Given the description of an element on the screen output the (x, y) to click on. 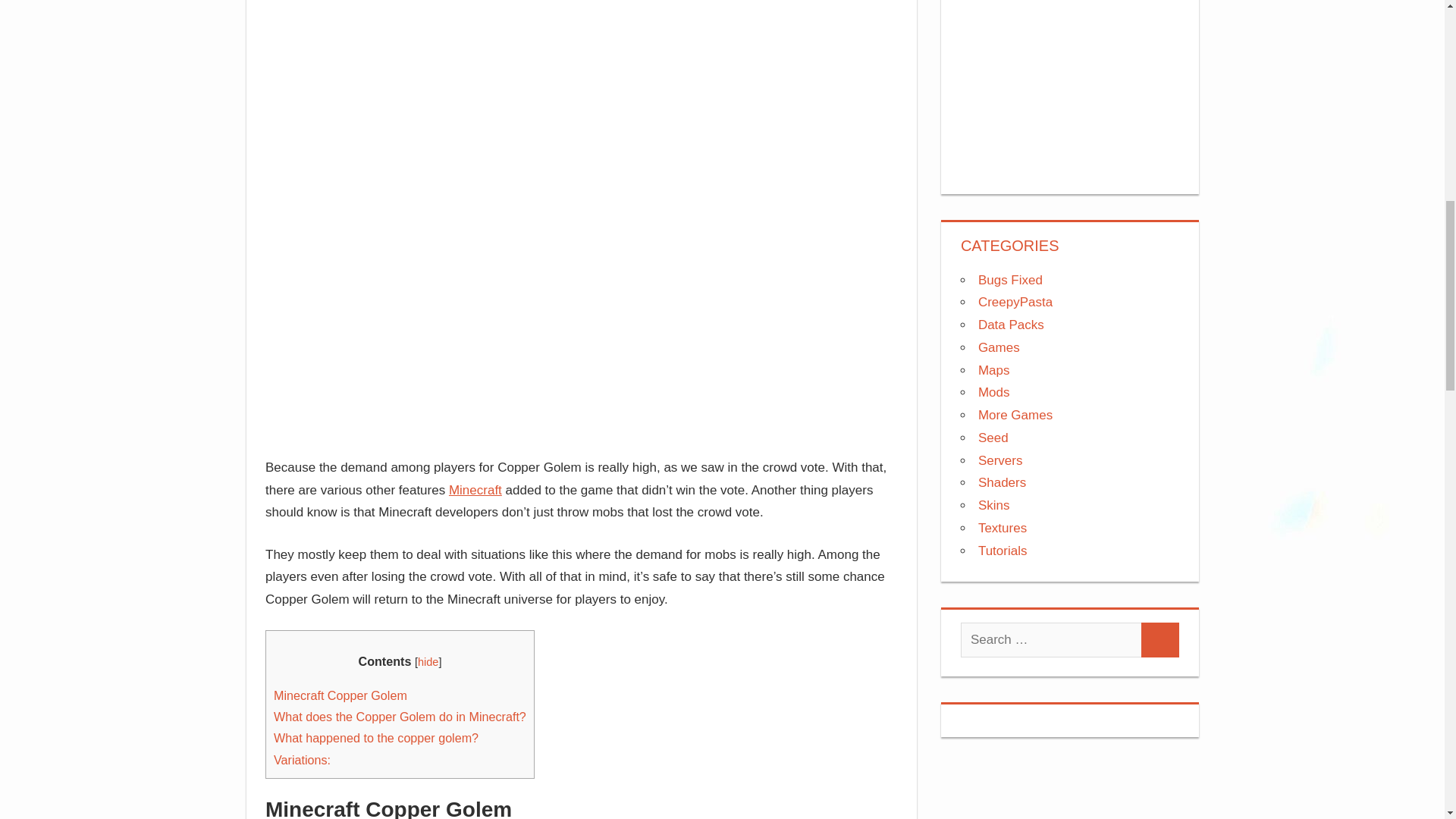
Variations: (301, 759)
Advertisement (581, 72)
Minecraft Copper Golem (340, 694)
Advertisement (1069, 83)
What happened to the copper golem? (376, 737)
hide (427, 662)
Minecraft (475, 490)
What does the Copper Golem do in Minecraft? (399, 716)
Search for: (1050, 639)
